Given the description of an element on the screen output the (x, y) to click on. 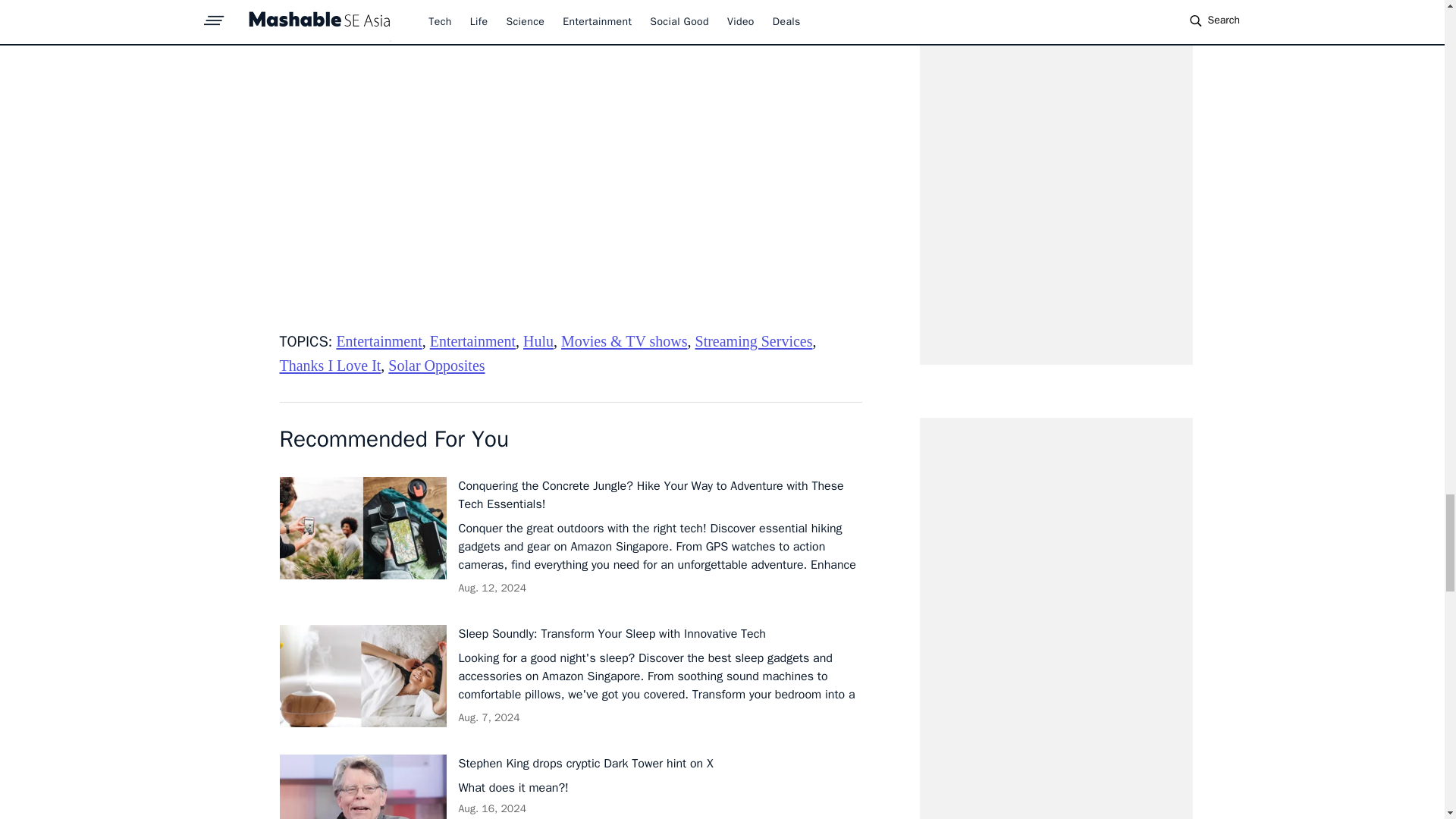
Entertainment (379, 340)
Solar Opposites (436, 365)
Entertainment (472, 340)
Streaming Services (753, 340)
Thanks I Love It (329, 365)
Hulu (537, 340)
